Given the description of an element on the screen output the (x, y) to click on. 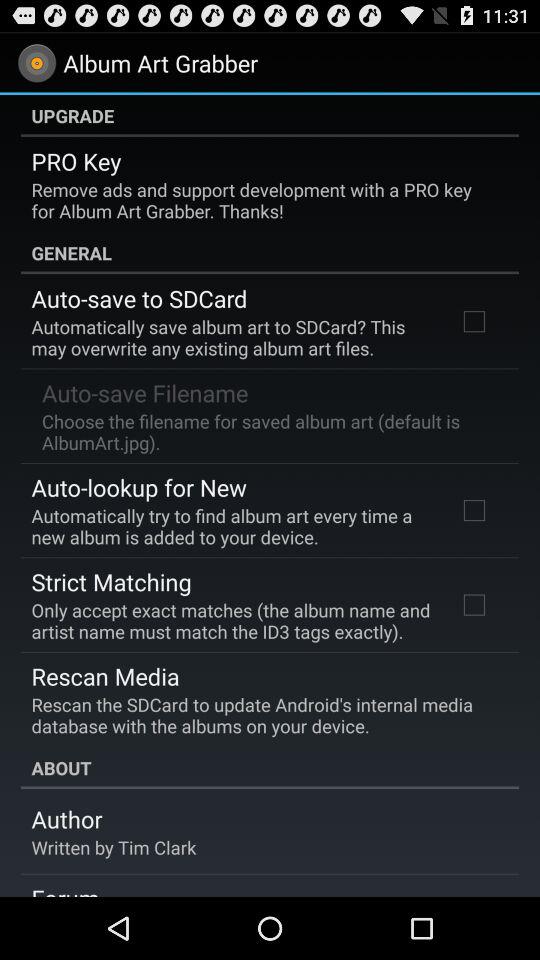
flip to the upgrade item (270, 115)
